Given the description of an element on the screen output the (x, y) to click on. 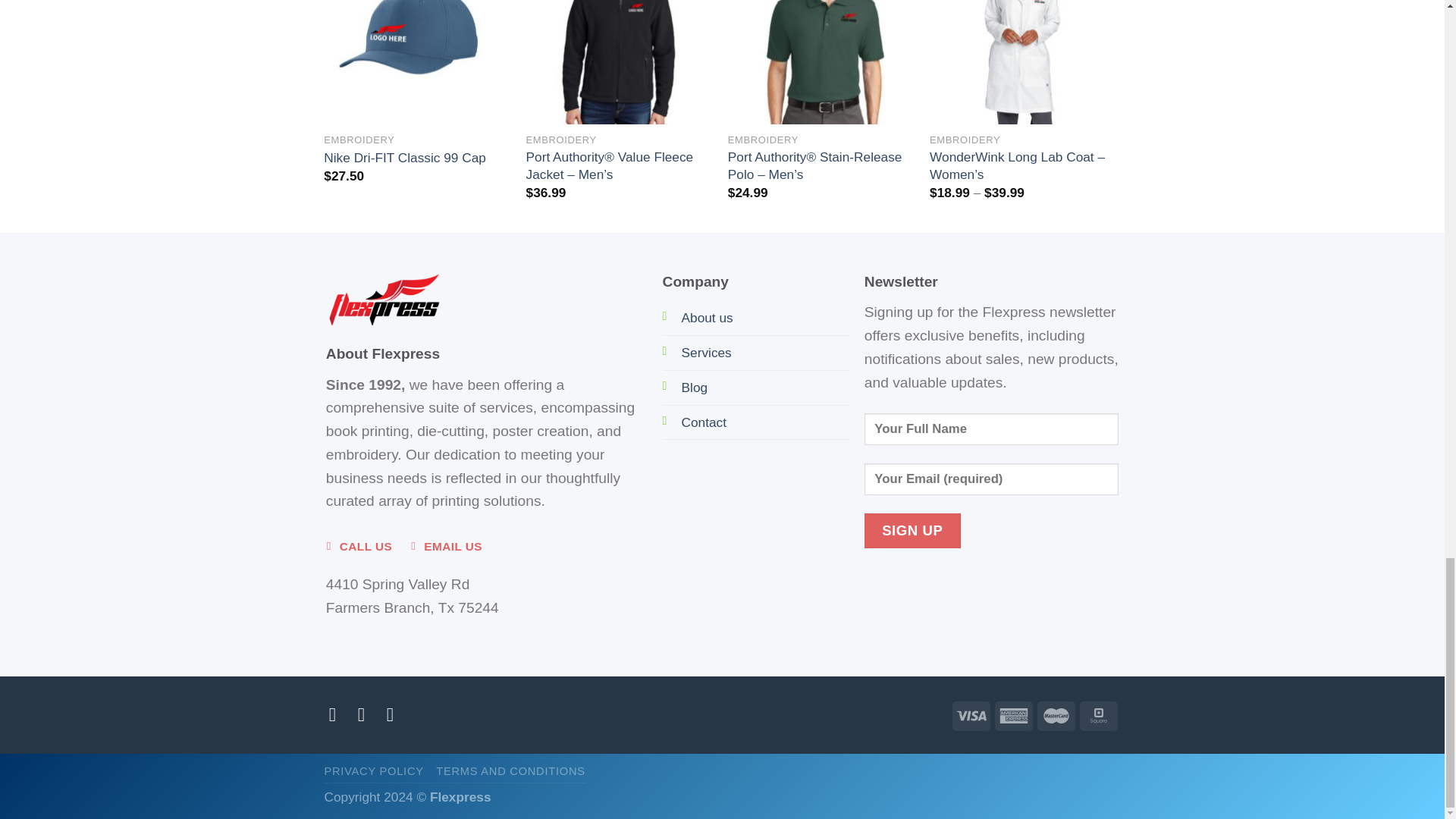
Send us an email (396, 713)
Follow on Instagram (367, 713)
SIGN UP (912, 530)
Follow on Facebook (338, 713)
